Given the description of an element on the screen output the (x, y) to click on. 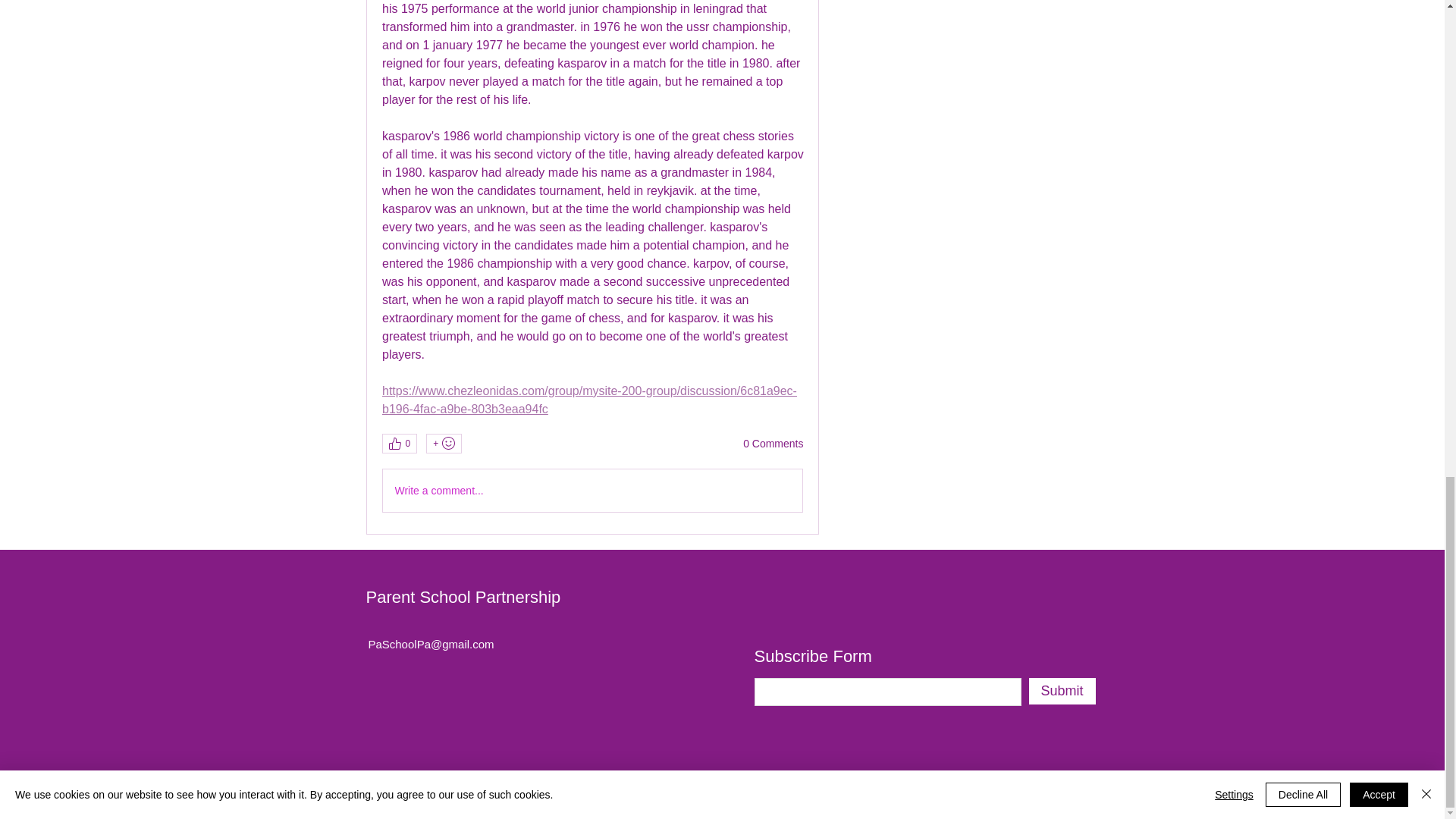
Parent School Partnership (462, 597)
Submit (1060, 691)
Write a comment... (591, 490)
0 Comments (772, 444)
